Given the description of an element on the screen output the (x, y) to click on. 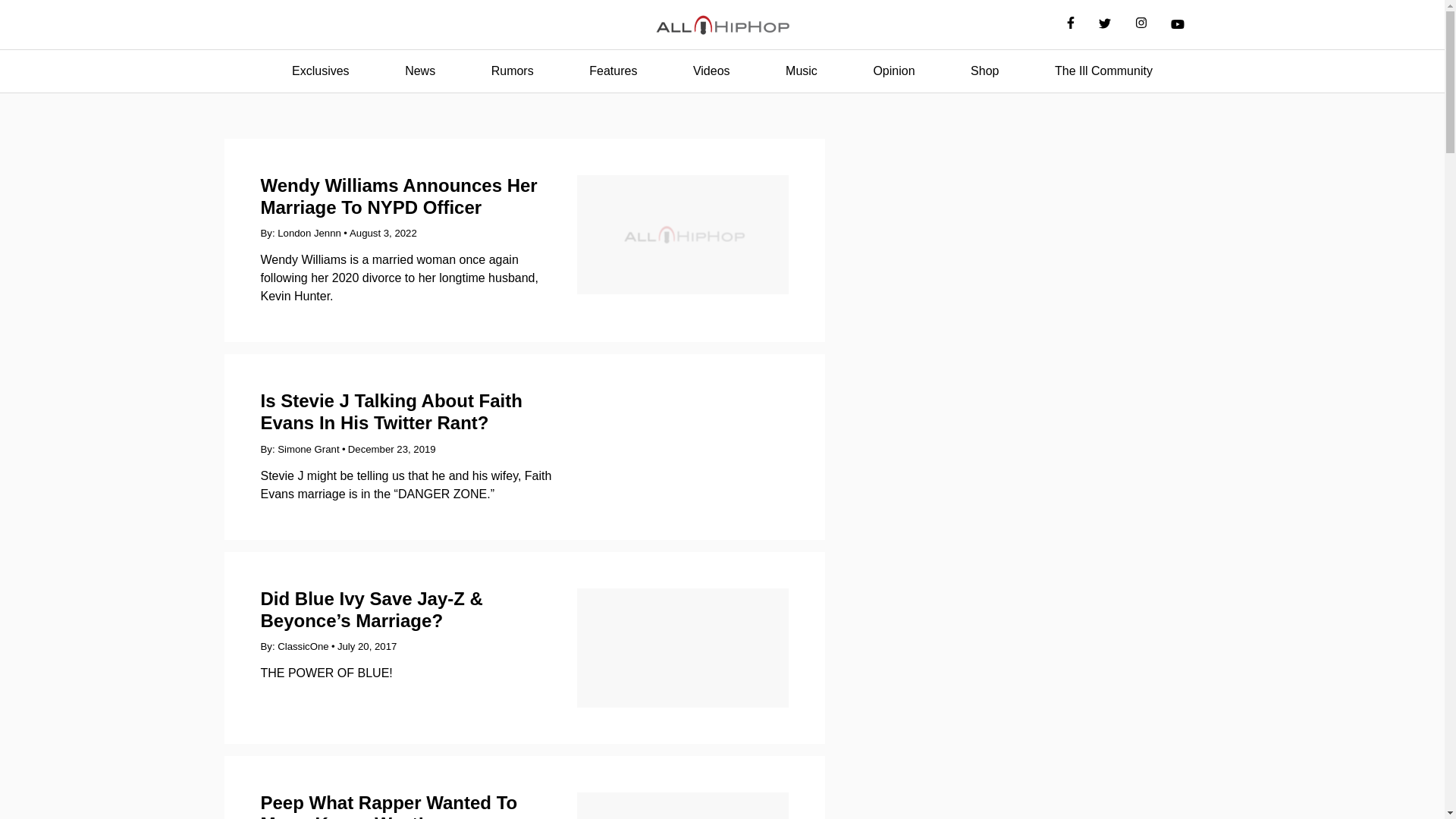
AllHipHop (722, 25)
Exclusives (320, 70)
London Jennn (309, 233)
Music (801, 70)
News (419, 70)
Videos (711, 70)
The Ill Community (1103, 70)
August 3, 2022 (382, 233)
Rumors (512, 70)
Wendy Williams Announces Her Marriage To NYPD Officer  (398, 196)
